Given the description of an element on the screen output the (x, y) to click on. 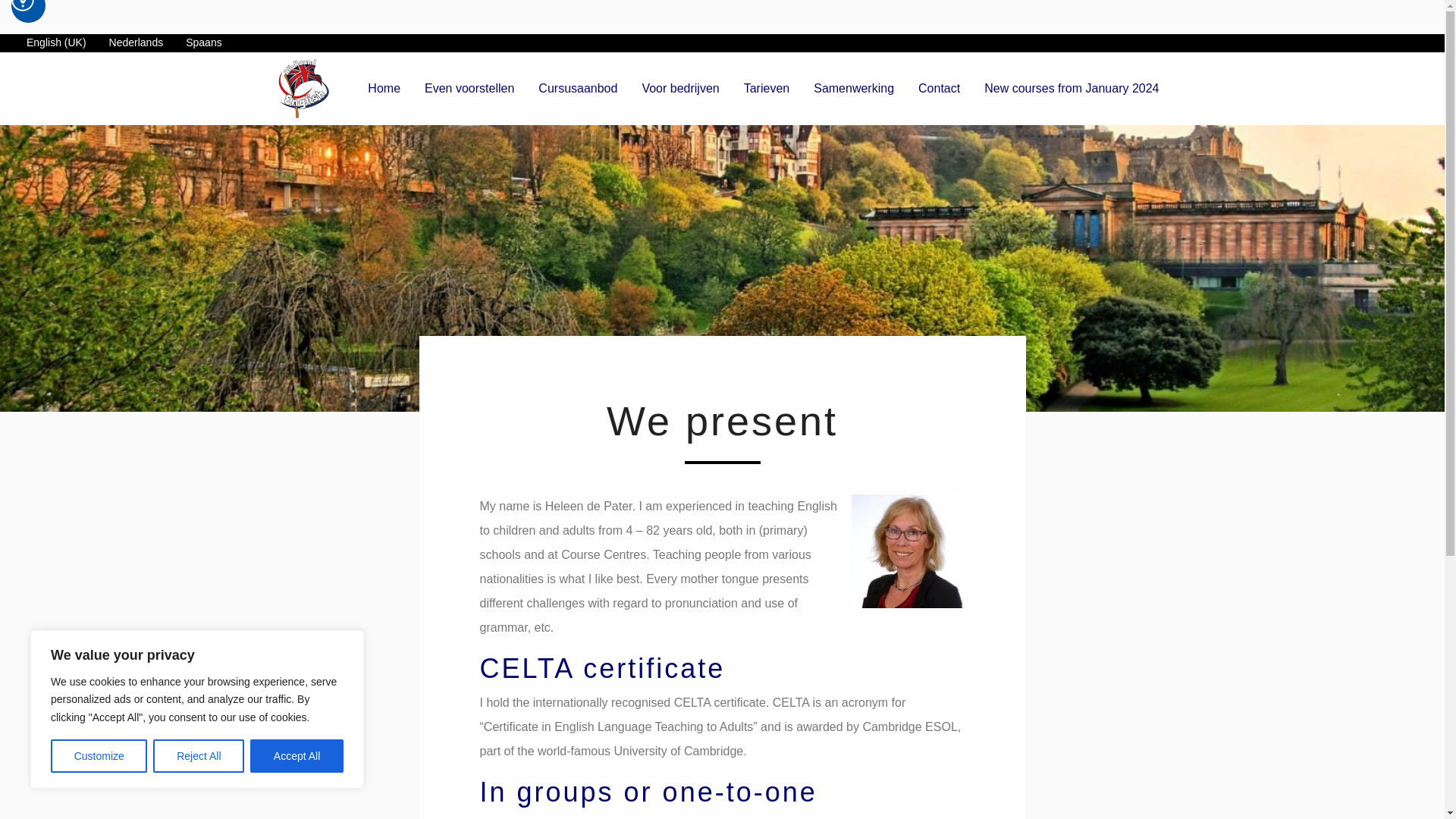
Nederlands (136, 42)
Spaans (203, 42)
Voor bedrijven (679, 88)
Samenwerking (853, 88)
Even voorstellen (468, 88)
Customize (98, 756)
Contact (938, 88)
Cursusaanbod (576, 88)
Tarieven (767, 88)
Home (383, 88)
New courses from January 2024 (1071, 88)
Accept All (296, 756)
Reject All (198, 756)
